Given the description of an element on the screen output the (x, y) to click on. 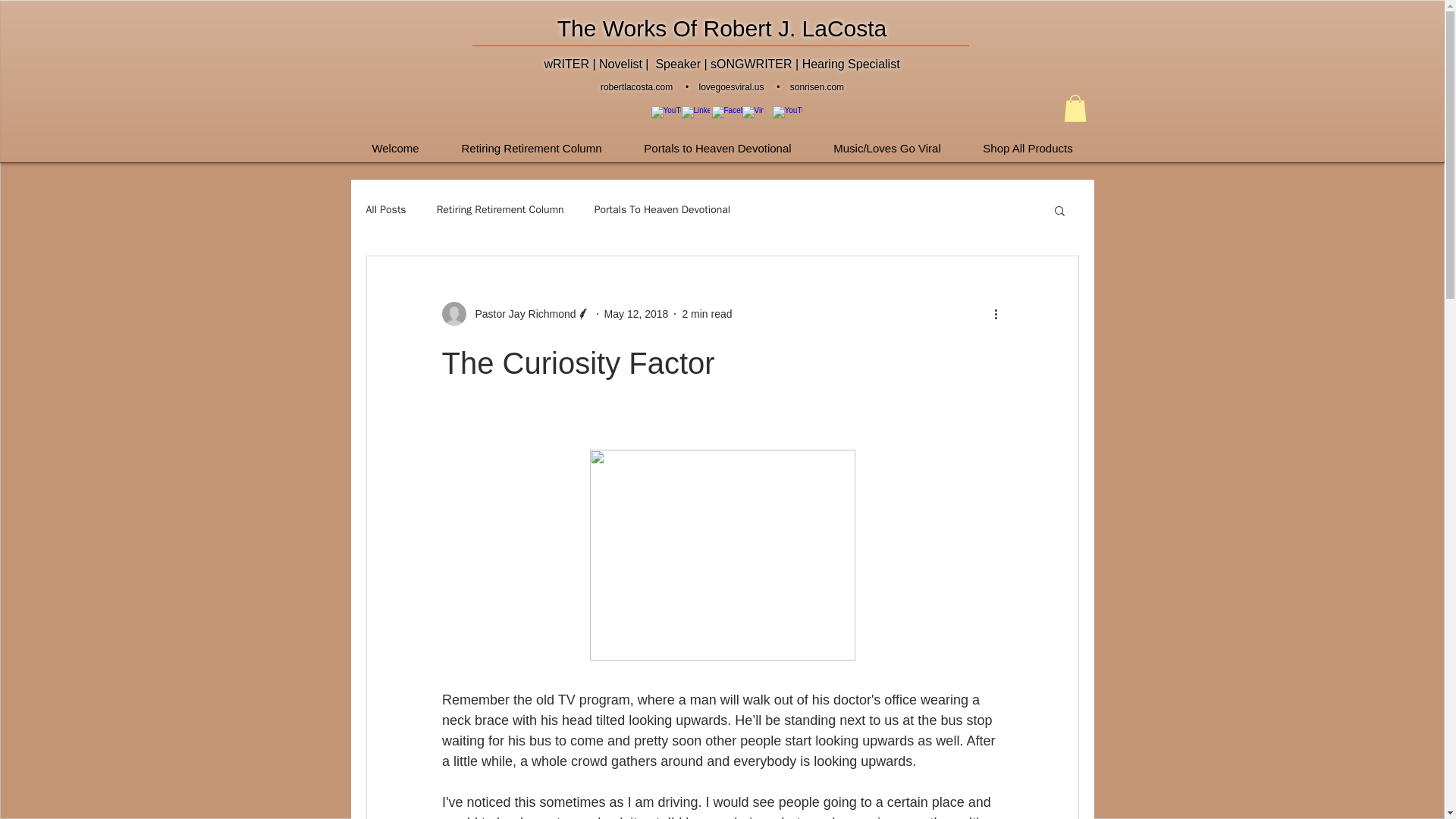
Welcome (394, 141)
All Posts (385, 210)
Pastor Jay Richmond (515, 313)
Pastor Jay Richmond (520, 314)
Shop All Products (1026, 141)
2 min read (706, 313)
Portals To Heaven Devotional (662, 210)
May 12, 2018 (636, 313)
Portals to Heaven Devotional (717, 141)
Retiring Retirement Column (500, 210)
Retiring Retirement Column (531, 141)
sonrisen.com (817, 86)
